Given the description of an element on the screen output the (x, y) to click on. 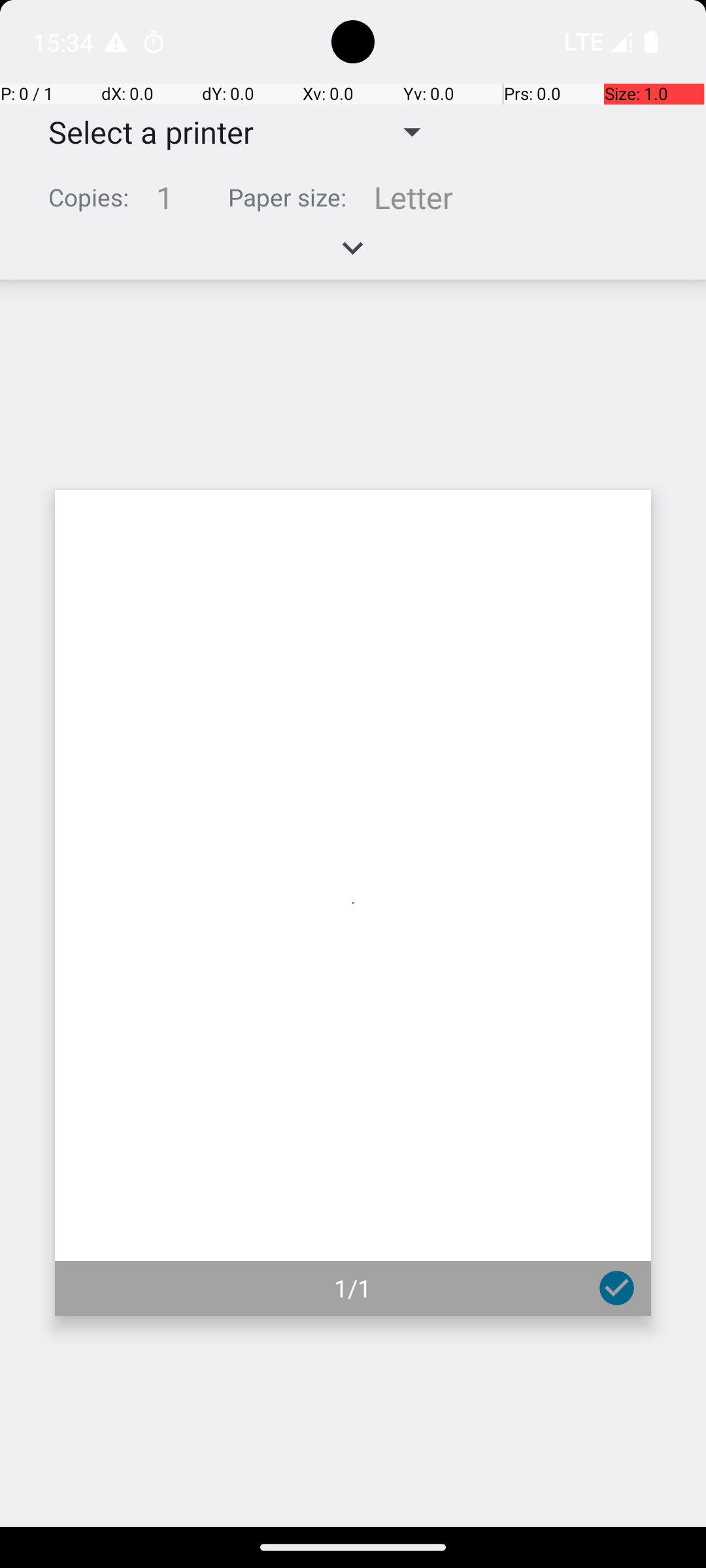
Expand handle Element type: android.widget.FrameLayout (353, 255)
Summary, copies 1, paper size Letter Element type: android.widget.LinearLayout (353, 202)
Select a printer Element type: android.widget.TextView (140, 131)
Copies: Element type: android.widget.TextView (88, 196)
Paper size: Element type: android.widget.TextView (287, 196)
Letter Element type: android.widget.TextView (413, 196)
Page 1 of 1 Element type: android.widget.CompoundButton (352, 902)
1/1 Element type: android.widget.TextView (352, 1287)
